Given the description of an element on the screen output the (x, y) to click on. 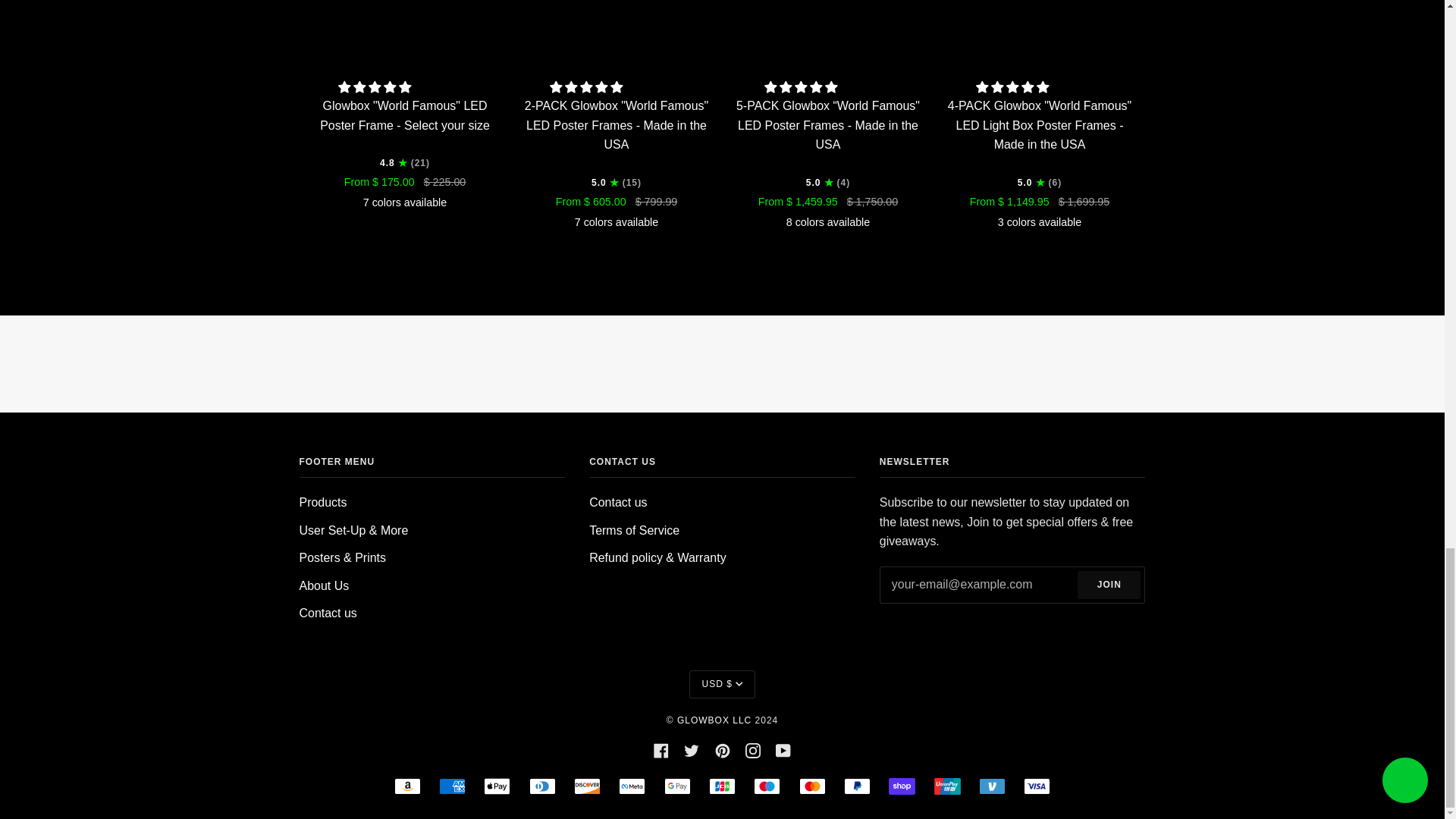
META PAY (631, 786)
Twitter (691, 749)
GOOGLE PAY (676, 786)
YouTube (783, 749)
AMAZON (407, 786)
DISCOVER (586, 786)
AMERICAN EXPRESS (452, 786)
APPLE PAY (497, 786)
Pinterest (721, 749)
Facebook (660, 749)
